Given the description of an element on the screen output the (x, y) to click on. 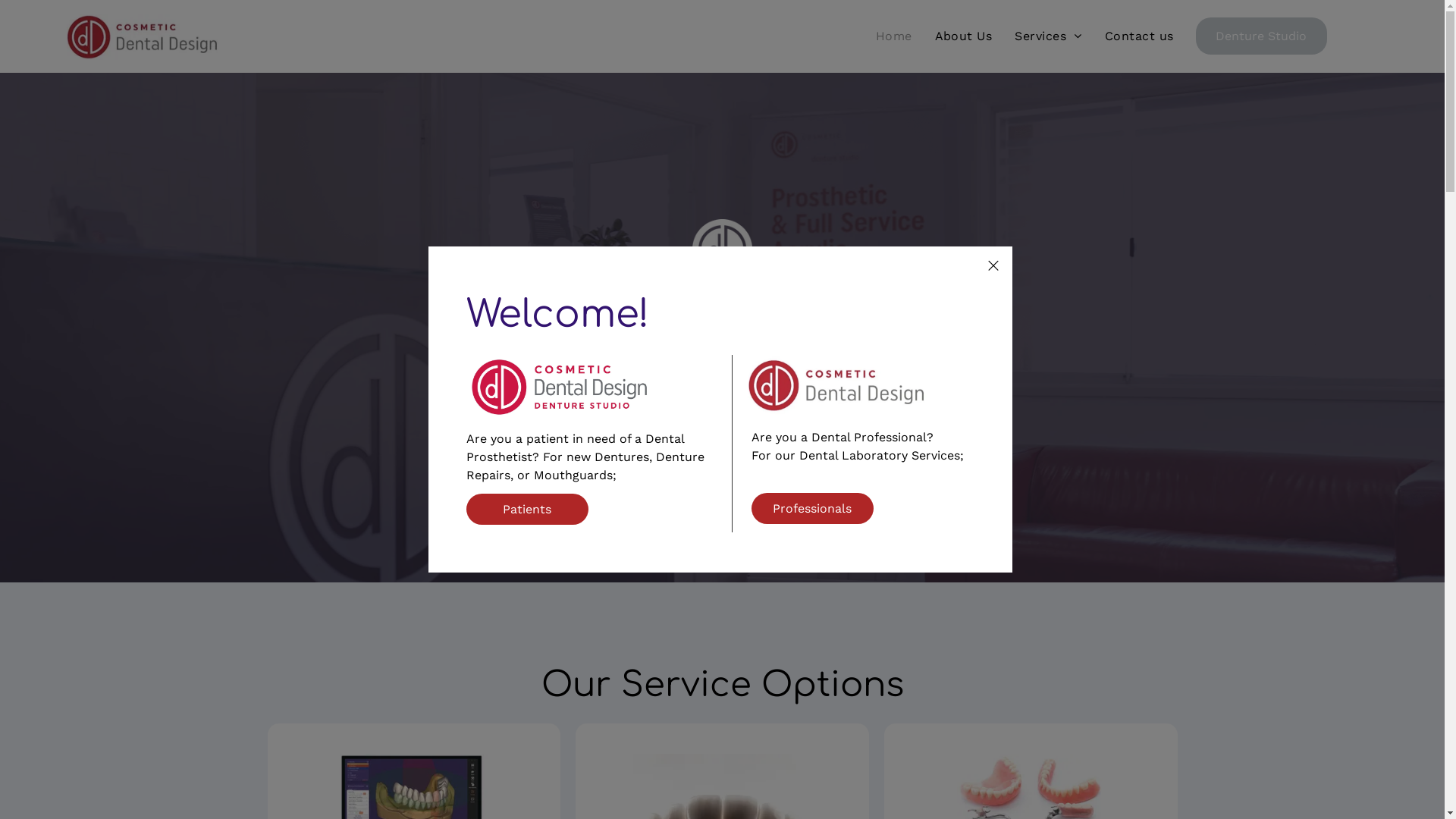
Home Element type: text (893, 36)
Denture Studio Element type: text (1261, 35)
Services Element type: text (1047, 36)
Professionals Element type: text (812, 508)
Patients Element type: text (527, 508)
Contact us Element type: text (1139, 36)
About Us Element type: text (963, 36)
